Given the description of an element on the screen output the (x, y) to click on. 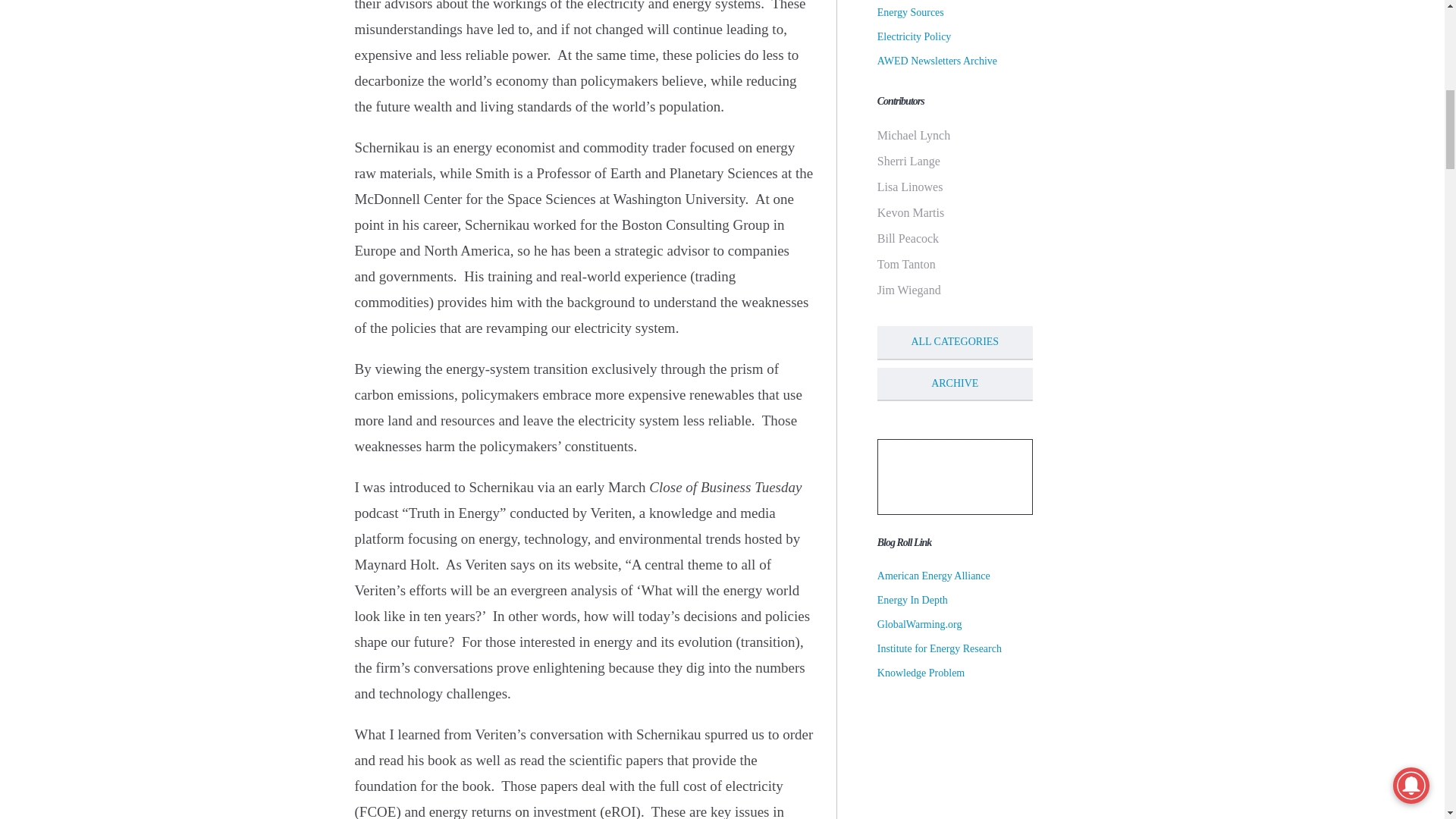
Energy Sources (910, 12)
ARCHIVE (954, 384)
ALL CATEGORIES (954, 342)
Electricity Policy (914, 36)
AWED Newsletters Archive (937, 60)
